Given the description of an element on the screen output the (x, y) to click on. 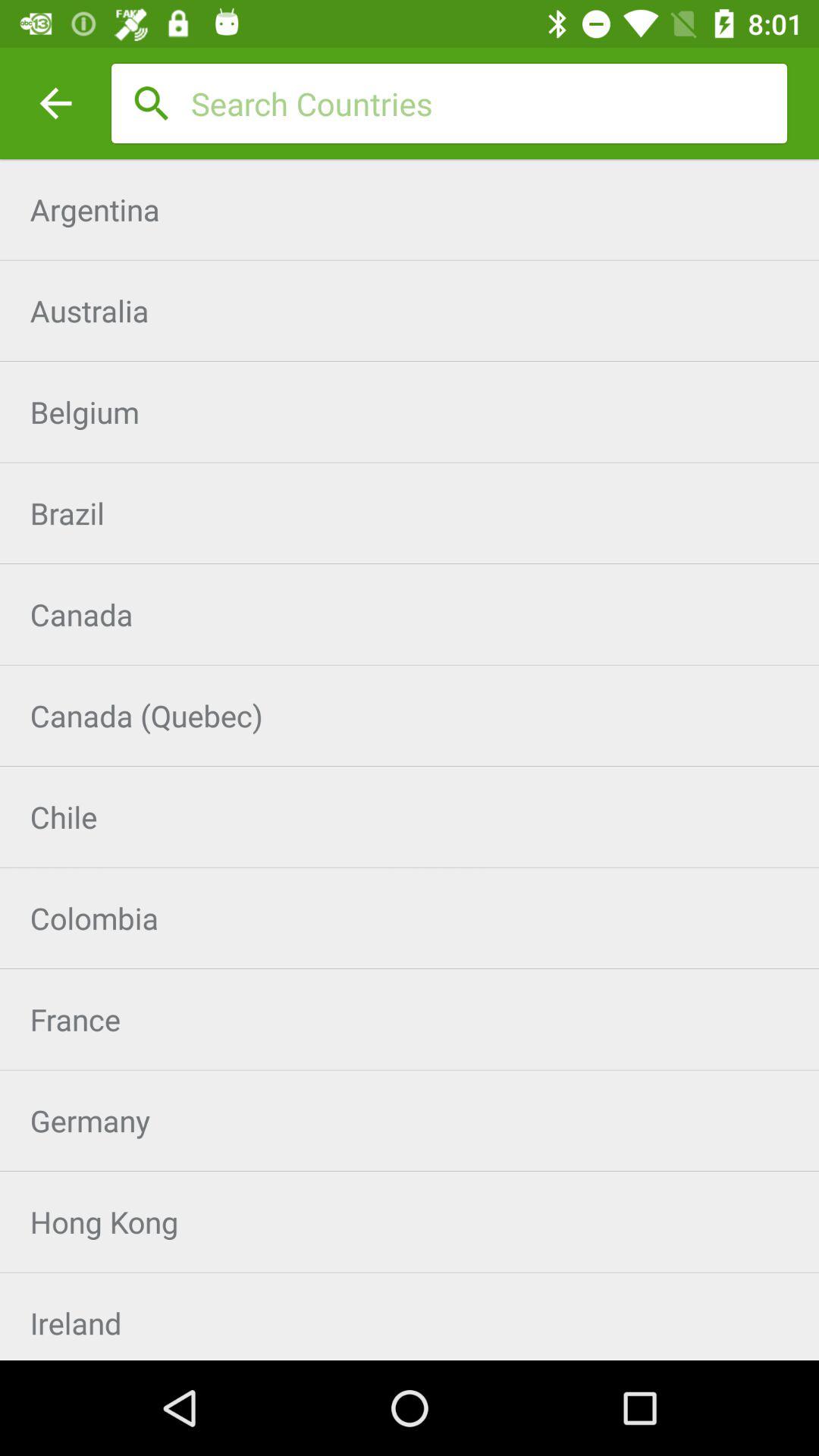
choose the item above the argentina icon (489, 103)
